Given the description of an element on the screen output the (x, y) to click on. 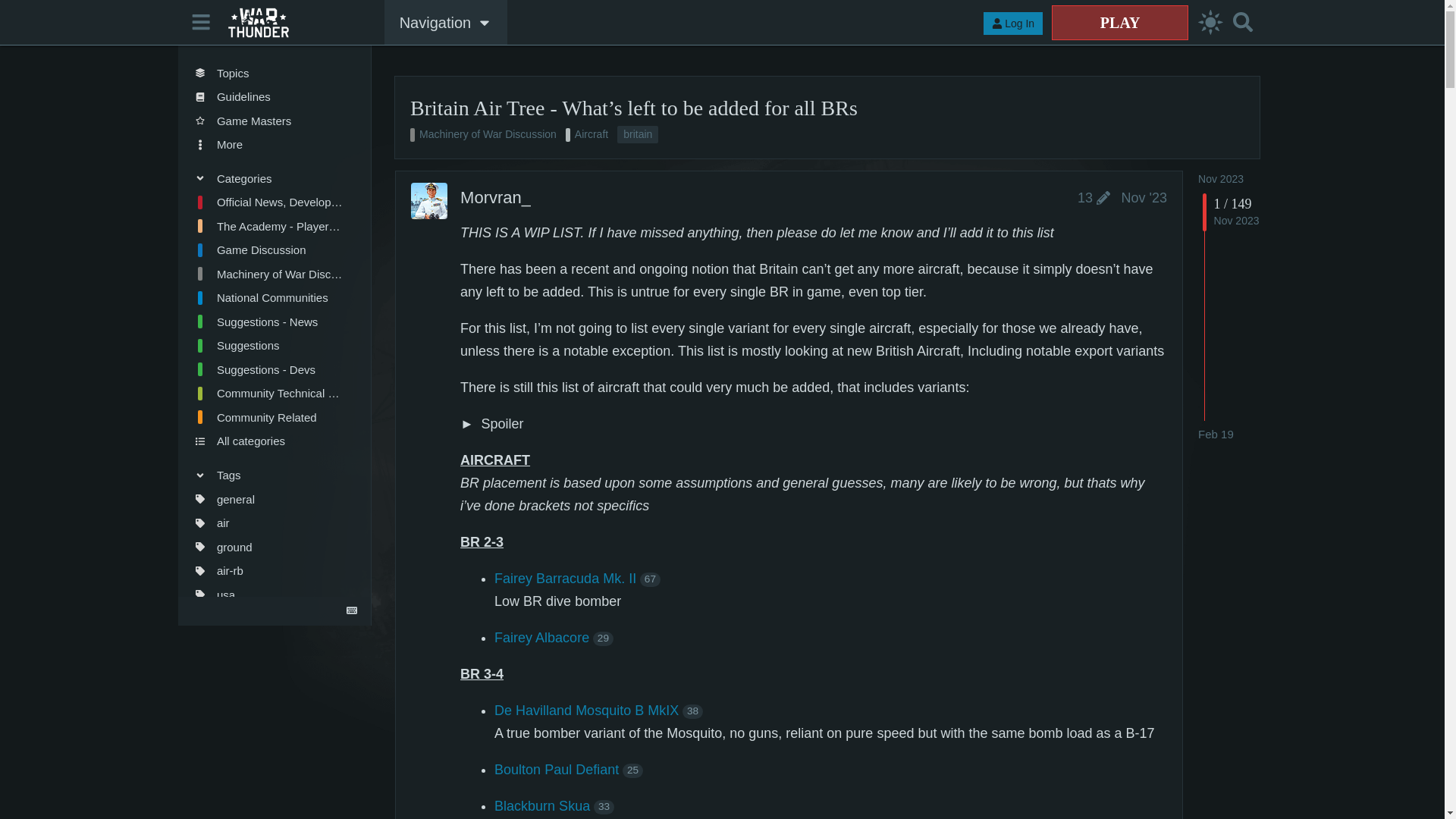
air-rb (268, 570)
Game Discussion (268, 250)
Official News, Development Blogs and Updates for War Thunder (268, 202)
Community Related (268, 417)
The Academy - Players helping Players (268, 225)
National Communities (268, 297)
Toggle section (269, 177)
Aircraft (587, 134)
air (268, 523)
All tags (268, 618)
